Given the description of an element on the screen output the (x, y) to click on. 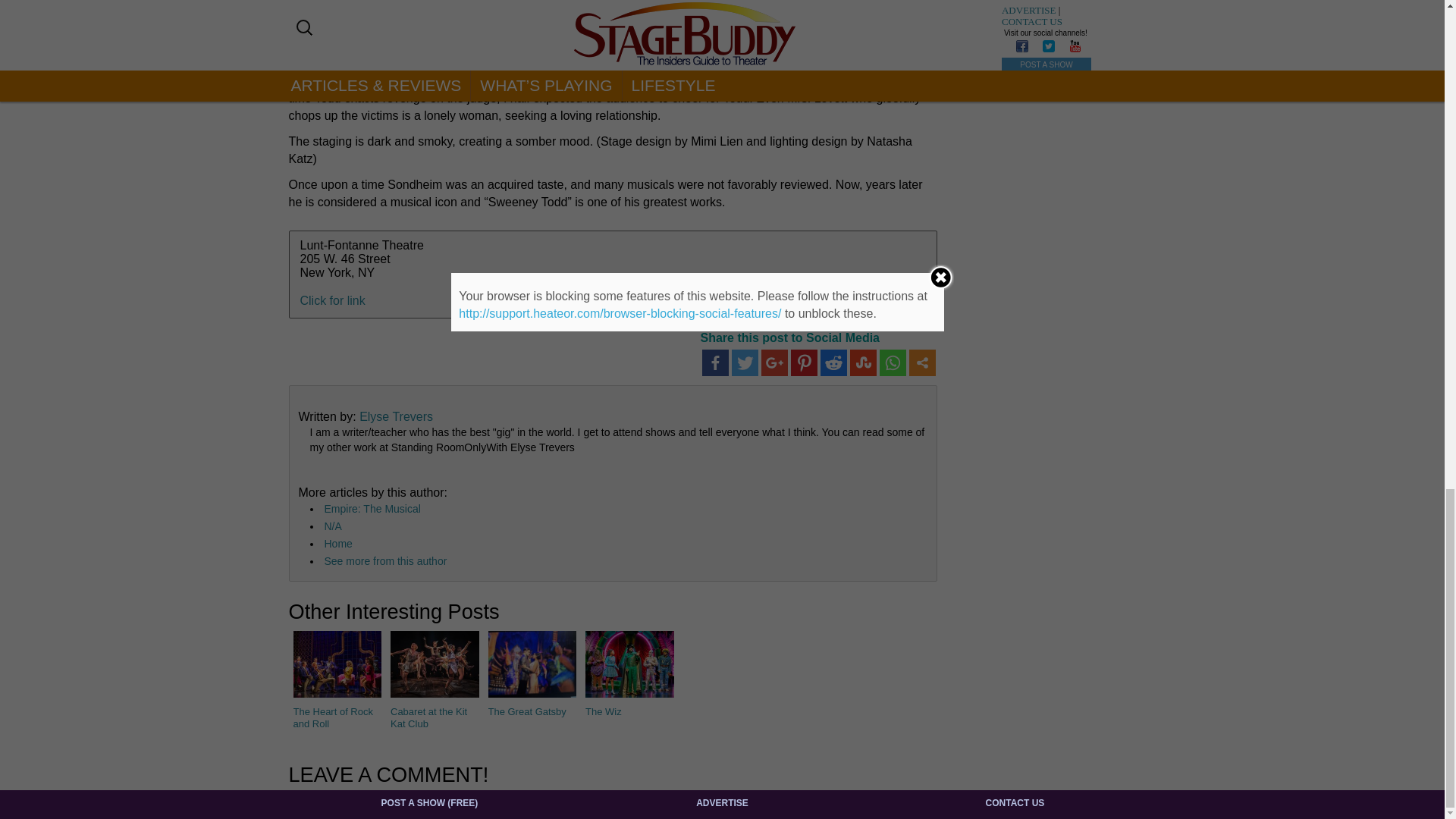
Pinterest (803, 362)
Elyse Trevers (395, 416)
The Wiz (629, 673)
Twitter (743, 362)
Home (338, 543)
Empire: The Musical (372, 508)
Click for link (332, 300)
The Great Gatsby (531, 673)
Reddit (834, 362)
Facebook (715, 362)
Stumbleupon (862, 362)
More (921, 362)
Whatsapp (892, 362)
Cabaret at the Kit Kat Club (434, 679)
The Heart of Rock and Roll (336, 679)
